Given the description of an element on the screen output the (x, y) to click on. 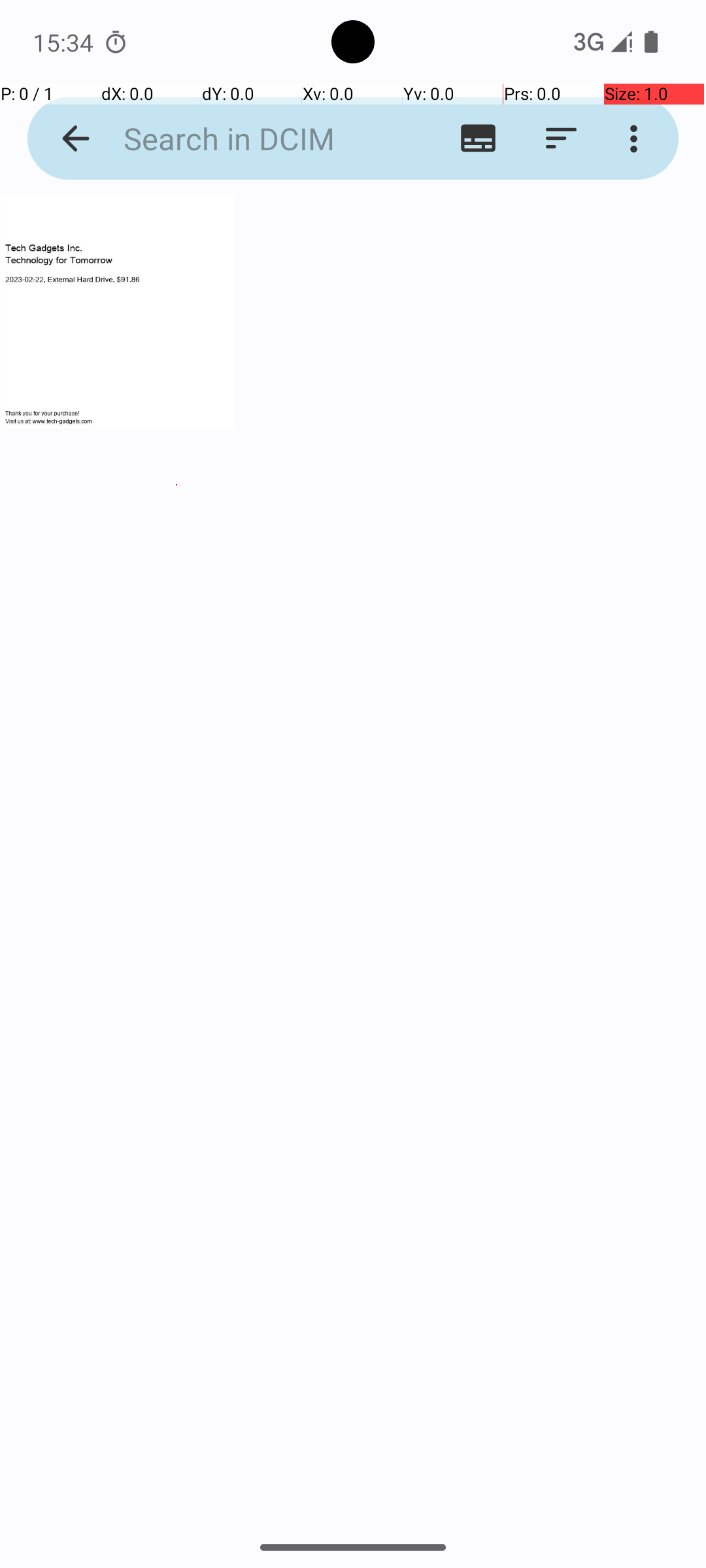
Search in DCIM Element type: android.widget.EditText (252, 138)
